Given the description of an element on the screen output the (x, y) to click on. 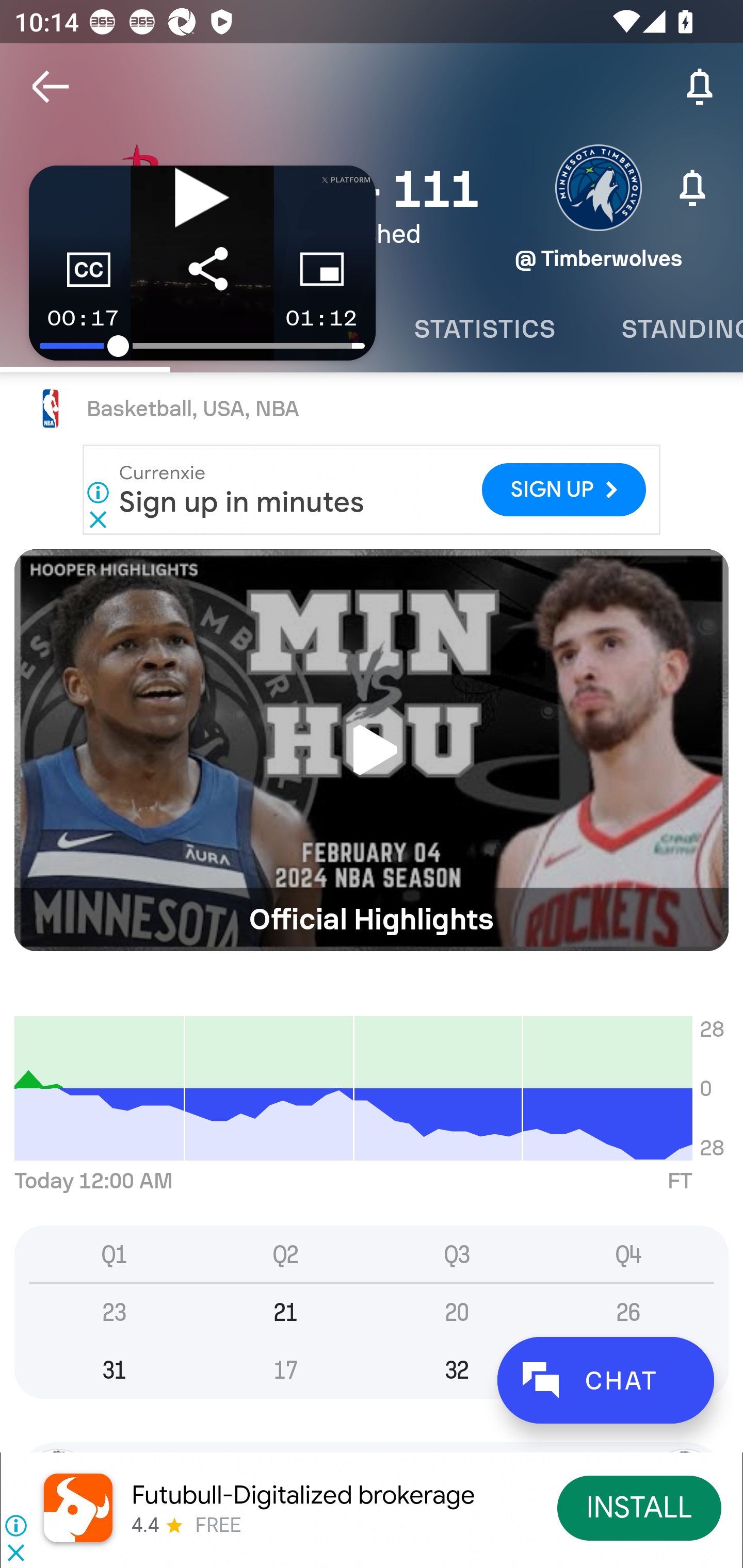
Navigate up (50, 86)
Statistics STATISTICS (484, 329)
Basketball, USA, NBA (371, 409)
Currenxie (162, 472)
SIGN UP (563, 489)
Sign up in minutes (241, 501)
CHAT (605, 1380)
INSTALL (639, 1507)
Futubull-Digitalized brokerage (302, 1494)
